Given the description of an element on the screen output the (x, y) to click on. 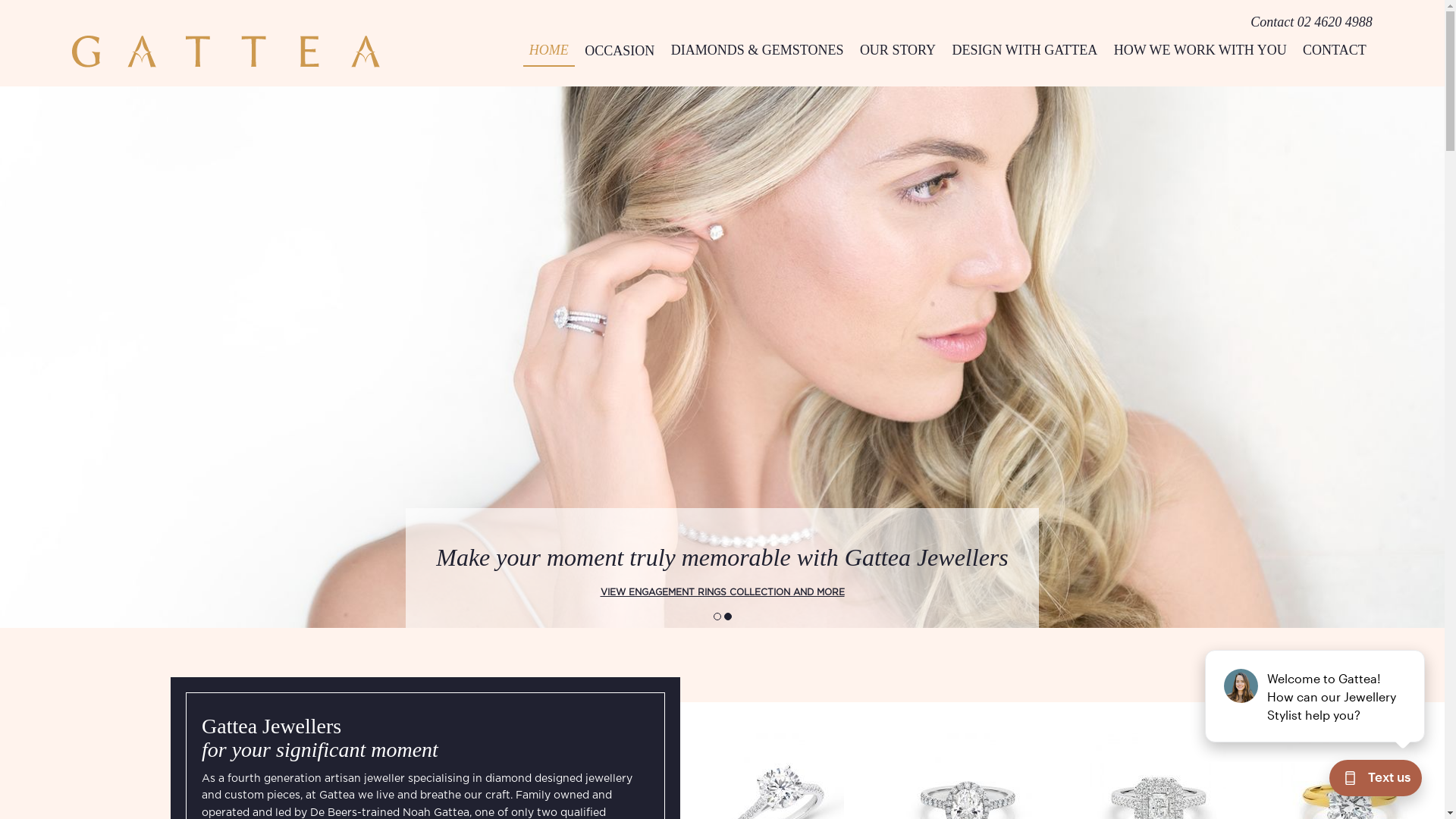
OUR STORY Element type: text (897, 50)
CONTACT Element type: text (1334, 50)
HOME Element type: text (548, 50)
VIEW ENGAGEMENT RINGS COLLECTION AND MORE Element type: text (722, 591)
DIAMONDS & GEMSTONES Element type: text (757, 50)
02 4620 4988 Element type: text (1334, 21)
DESIGN WITH GATTEA Element type: text (1025, 50)
HOW WE WORK WITH YOU Element type: text (1199, 50)
podium webchat widget prompt Element type: hover (1315, 696)
